Given the description of an element on the screen output the (x, y) to click on. 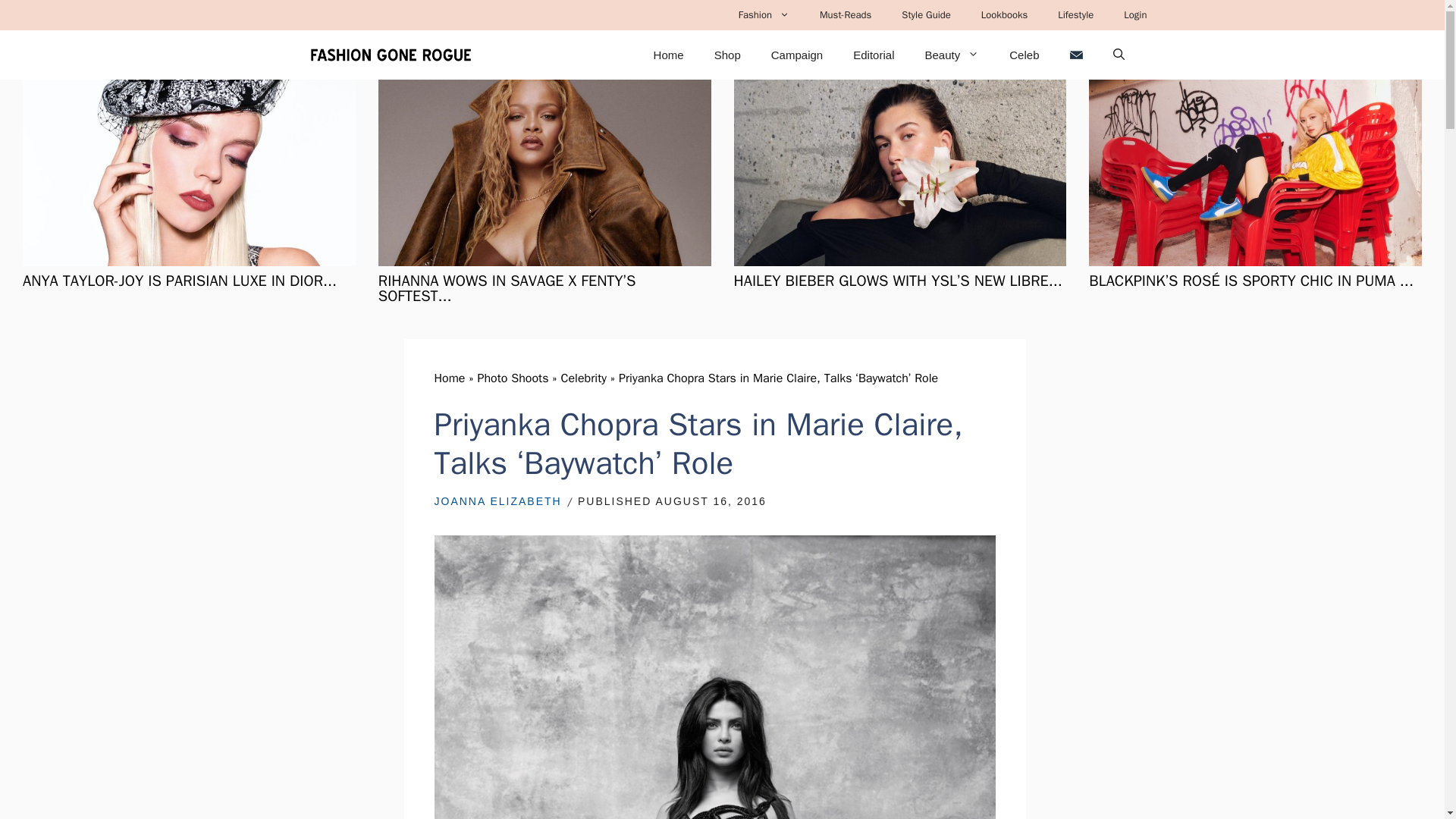
Shop (726, 53)
Photo Shoots (512, 378)
Must-Reads (845, 15)
Style Guide (926, 15)
JOANNA ELIZABETH (496, 500)
Celeb (1024, 53)
Fashion (764, 15)
Celebrity (583, 378)
ANYA TAYLOR-JOY IS PARISIAN LUXE IN DIOR... (179, 280)
Fashion Gone Rogue (390, 54)
